Given the description of an element on the screen output the (x, y) to click on. 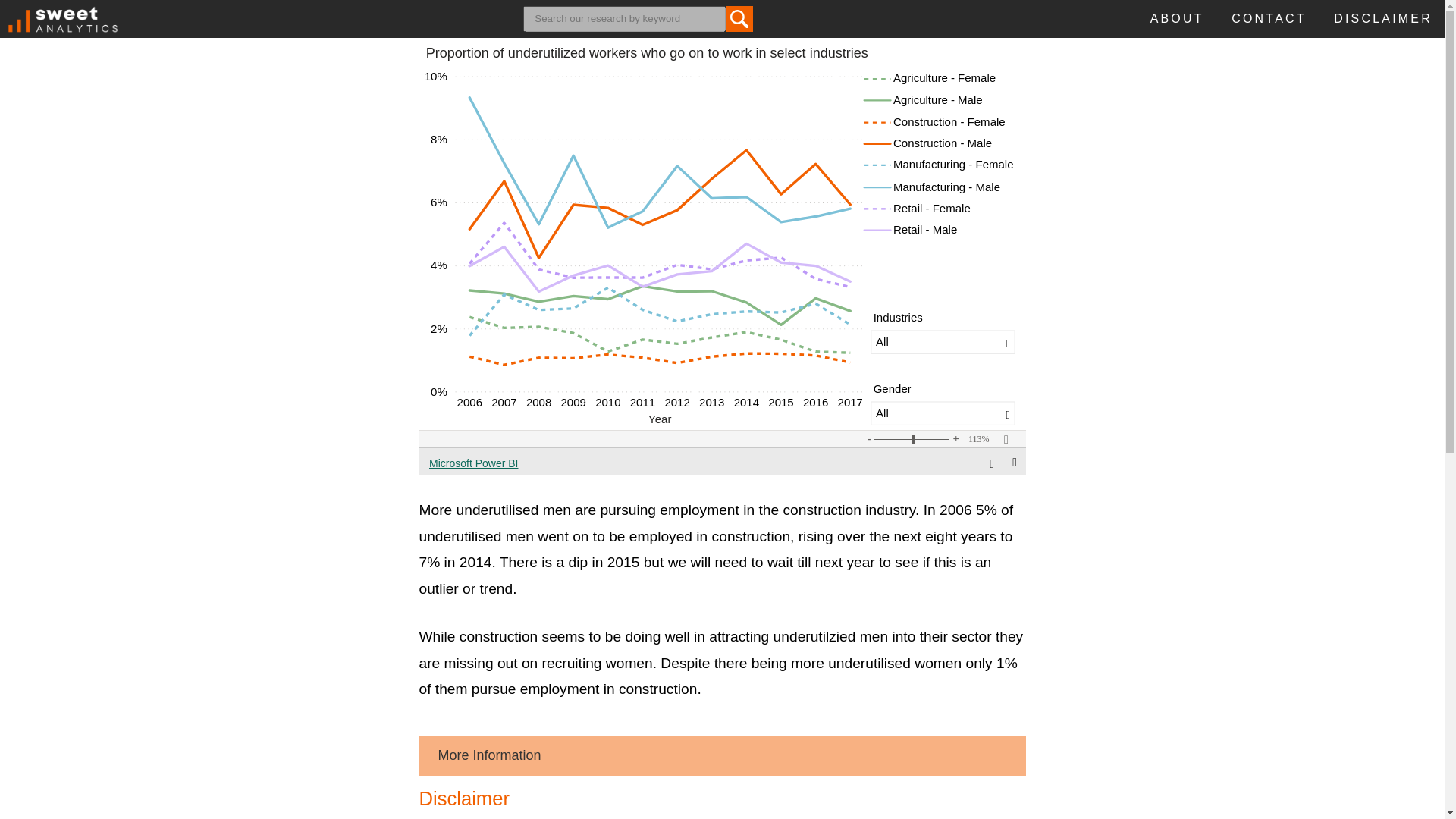
Find out more about us (1176, 21)
Find out how to contact us (1269, 21)
ABOUT (1176, 21)
CONTACT (1269, 21)
